Given the description of an element on the screen output the (x, y) to click on. 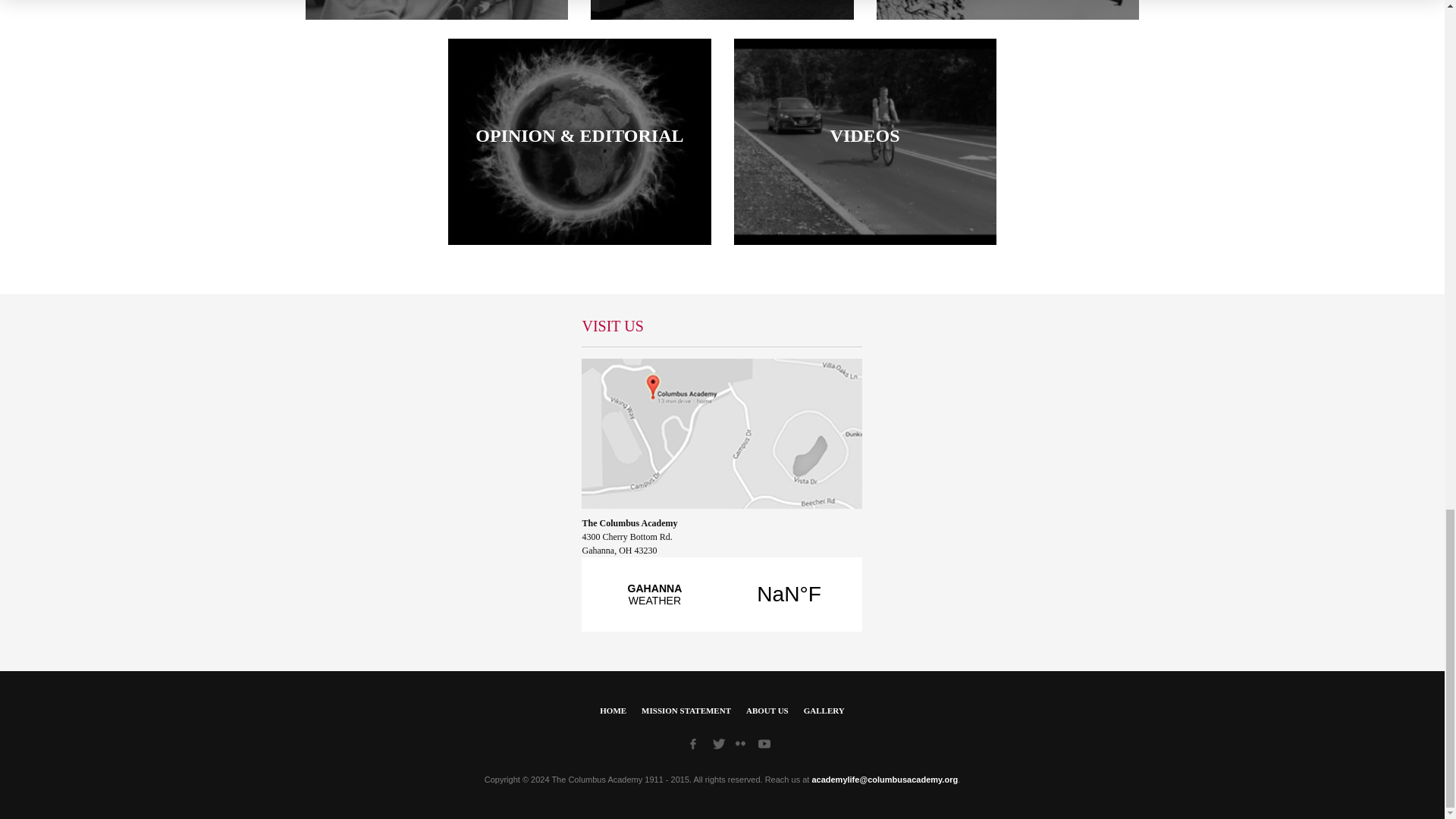
Weather Widget (720, 602)
